Given the description of an element on the screen output the (x, y) to click on. 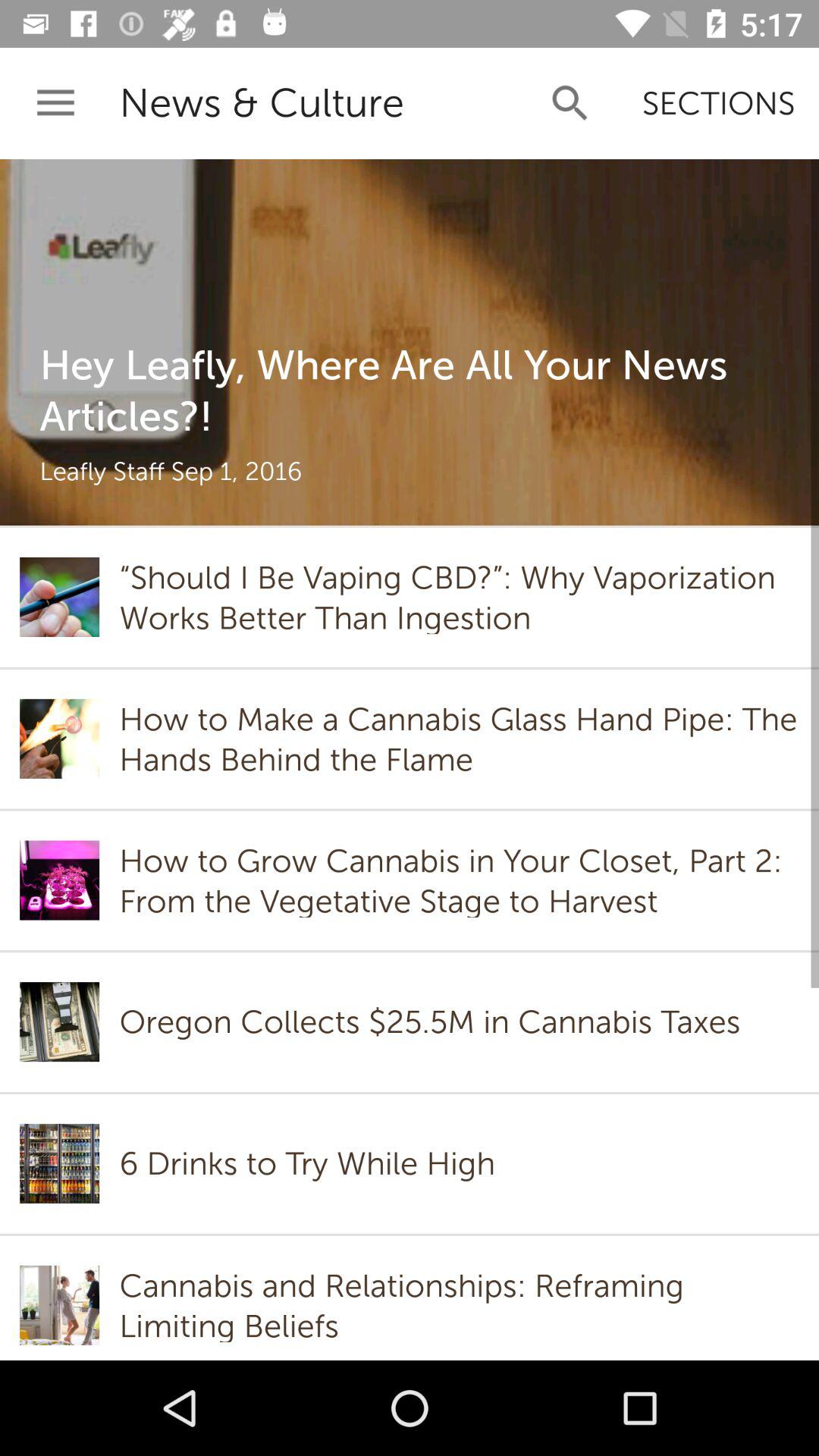
select icon below 6 drinks to item (459, 1305)
